Given the description of an element on the screen output the (x, y) to click on. 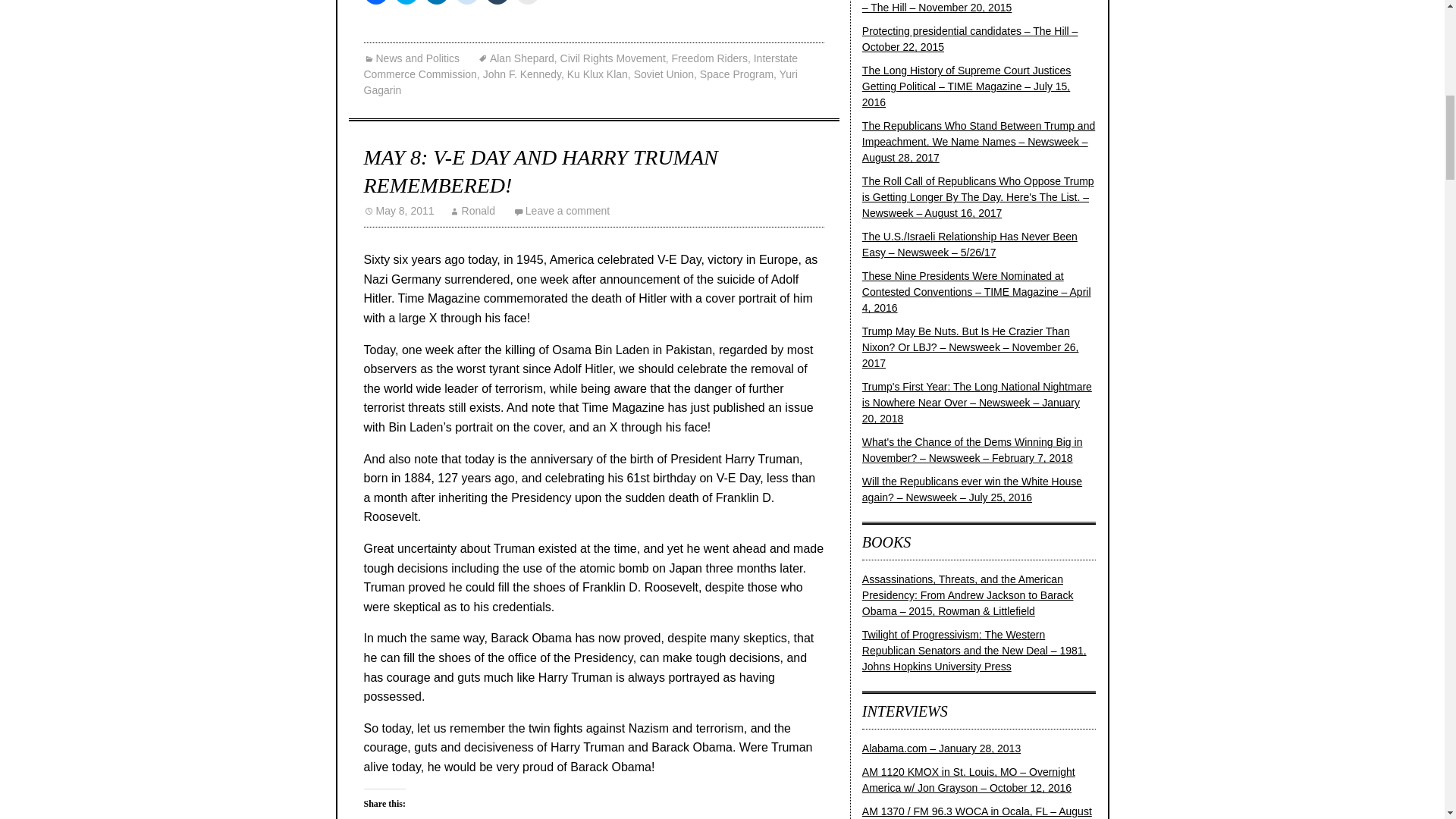
View all posts by Ronald (472, 210)
Click to share on Twitter (406, 2)
Leave a comment (561, 210)
Click to email a link to a friend (527, 2)
Interstate Commerce Commission (580, 66)
Ku Klux Klan (597, 73)
Click to share on Tumblr (496, 2)
Click to share on Reddit (466, 2)
John F. Kennedy (521, 73)
News and Politics (412, 58)
Alan Shepard (515, 58)
10:11 am (398, 210)
Click to share on Facebook (376, 2)
Click to share on LinkedIn (436, 2)
May 8, 2011 (398, 210)
